Given the description of an element on the screen output the (x, y) to click on. 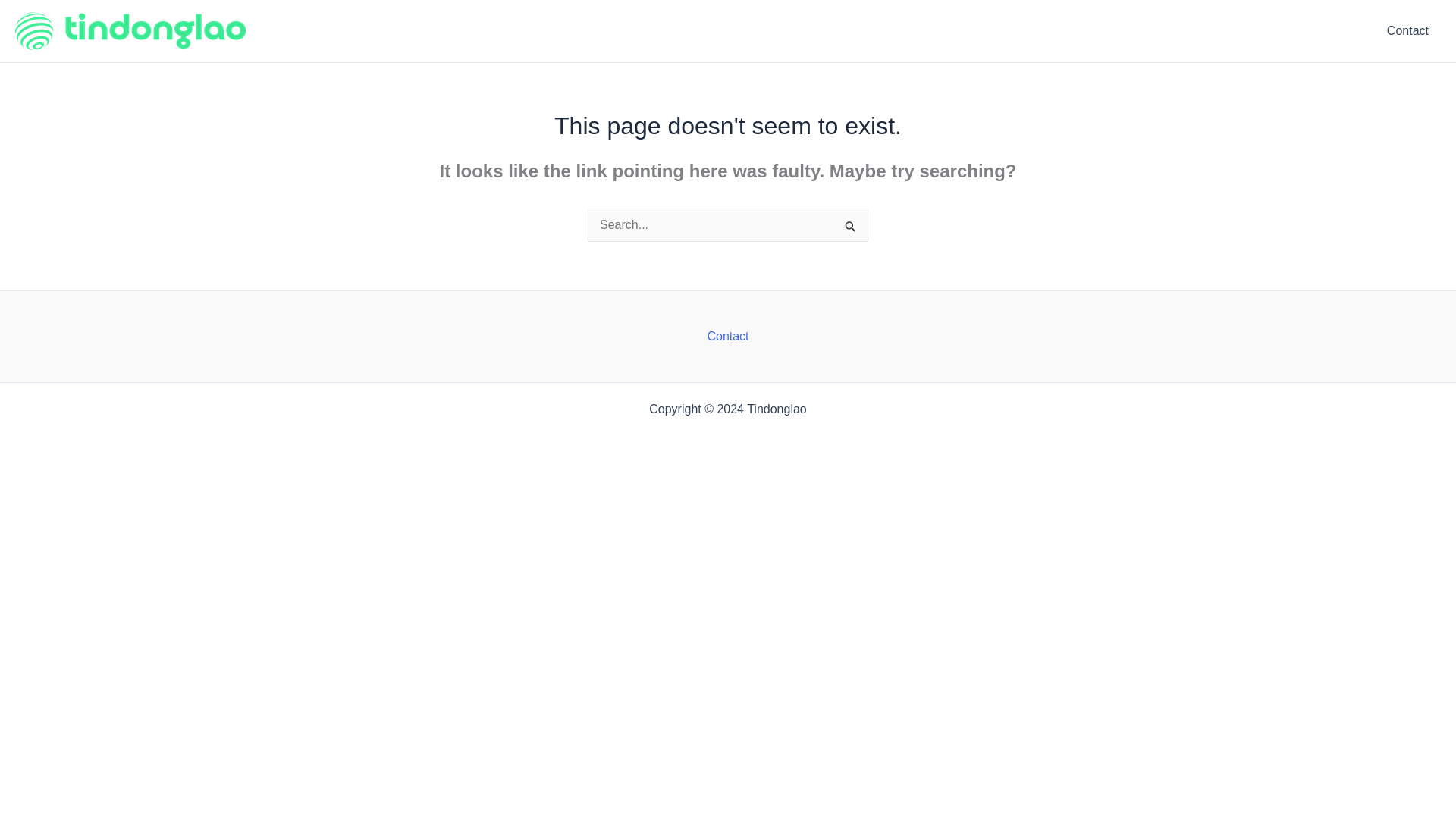
Contact (727, 336)
Contact (1407, 30)
